Given the description of an element on the screen output the (x, y) to click on. 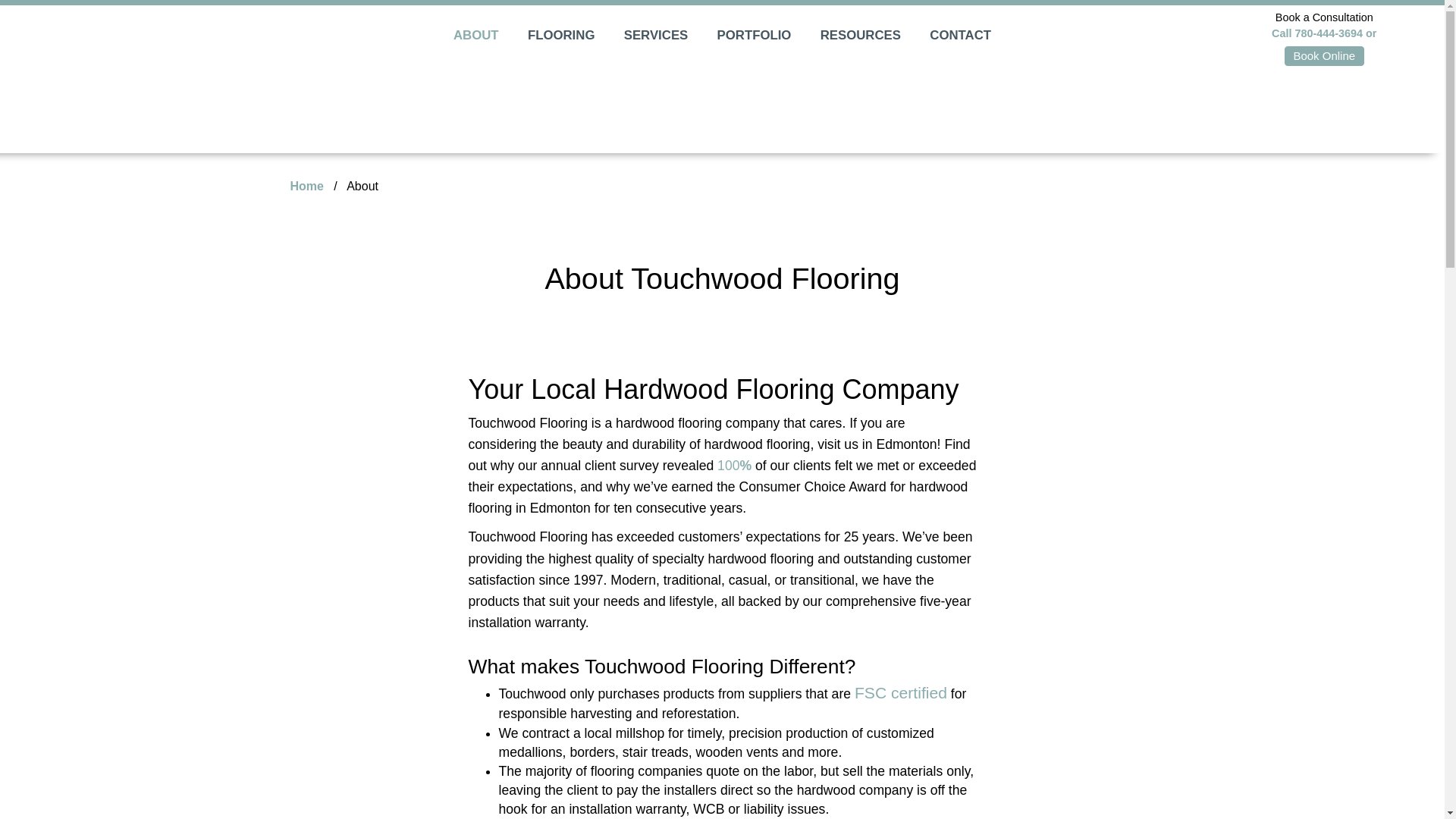
Flooring (561, 35)
Services (655, 35)
SERVICES (655, 35)
ABOUT (476, 35)
Book Online (1324, 55)
Call 780-444-3694 or (1323, 33)
RESOURCES (861, 35)
About (476, 35)
PORTFOLIO (753, 35)
CONTACT (960, 35)
